Given the description of an element on the screen output the (x, y) to click on. 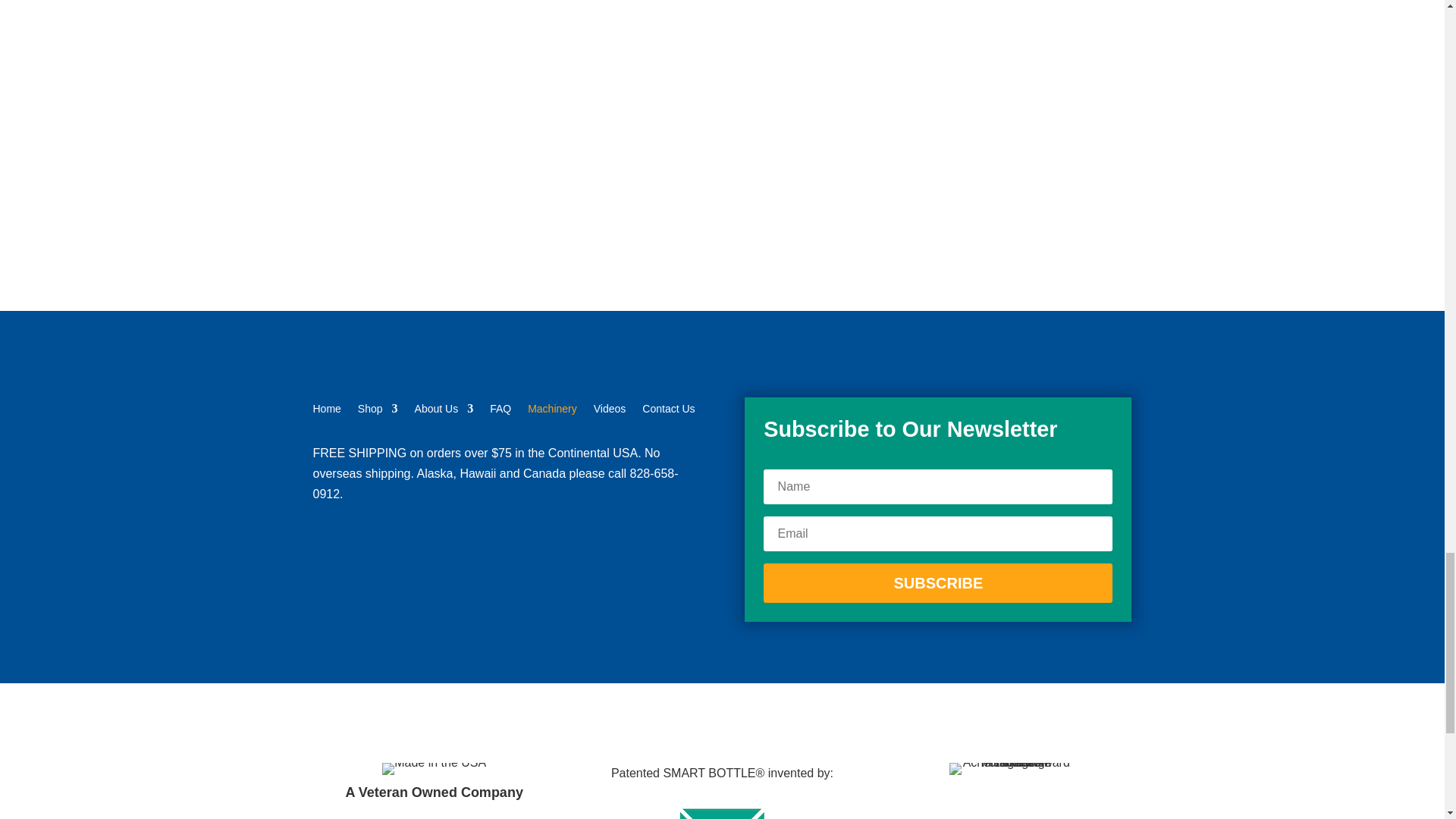
Made in the USA (433, 768)
Videos (610, 411)
About Us (444, 411)
FPA Award (1009, 768)
Smart Bottle Piston Filler (452, 85)
Home (326, 411)
Shop (377, 411)
Machinery (551, 411)
SUBSCRIBE (937, 582)
Contact Us (668, 411)
FAQ (500, 411)
828-658-0912. (495, 483)
